Given the description of an element on the screen output the (x, y) to click on. 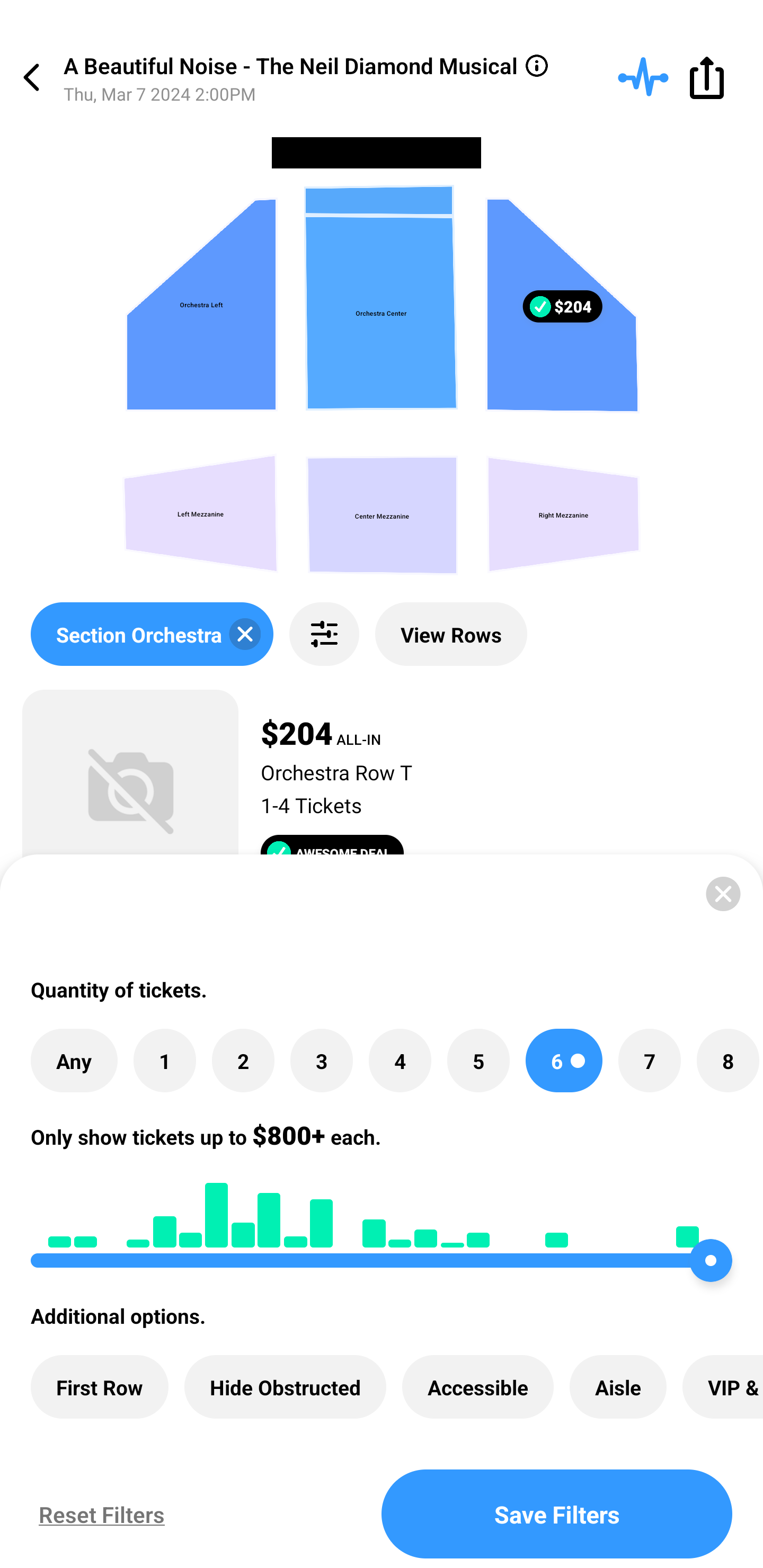
Any (73, 1060)
1 (164, 1060)
2 (243, 1060)
3 (321, 1060)
4 (399, 1060)
5 (478, 1060)
6 (563, 1060)
7 (649, 1060)
8 (727, 1060)
First Row (99, 1386)
Hide Obstructed (285, 1386)
Accessible (477, 1386)
Aisle (617, 1386)
Save Filters (556, 1513)
Reset Filters (97, 1513)
